Given the description of an element on the screen output the (x, y) to click on. 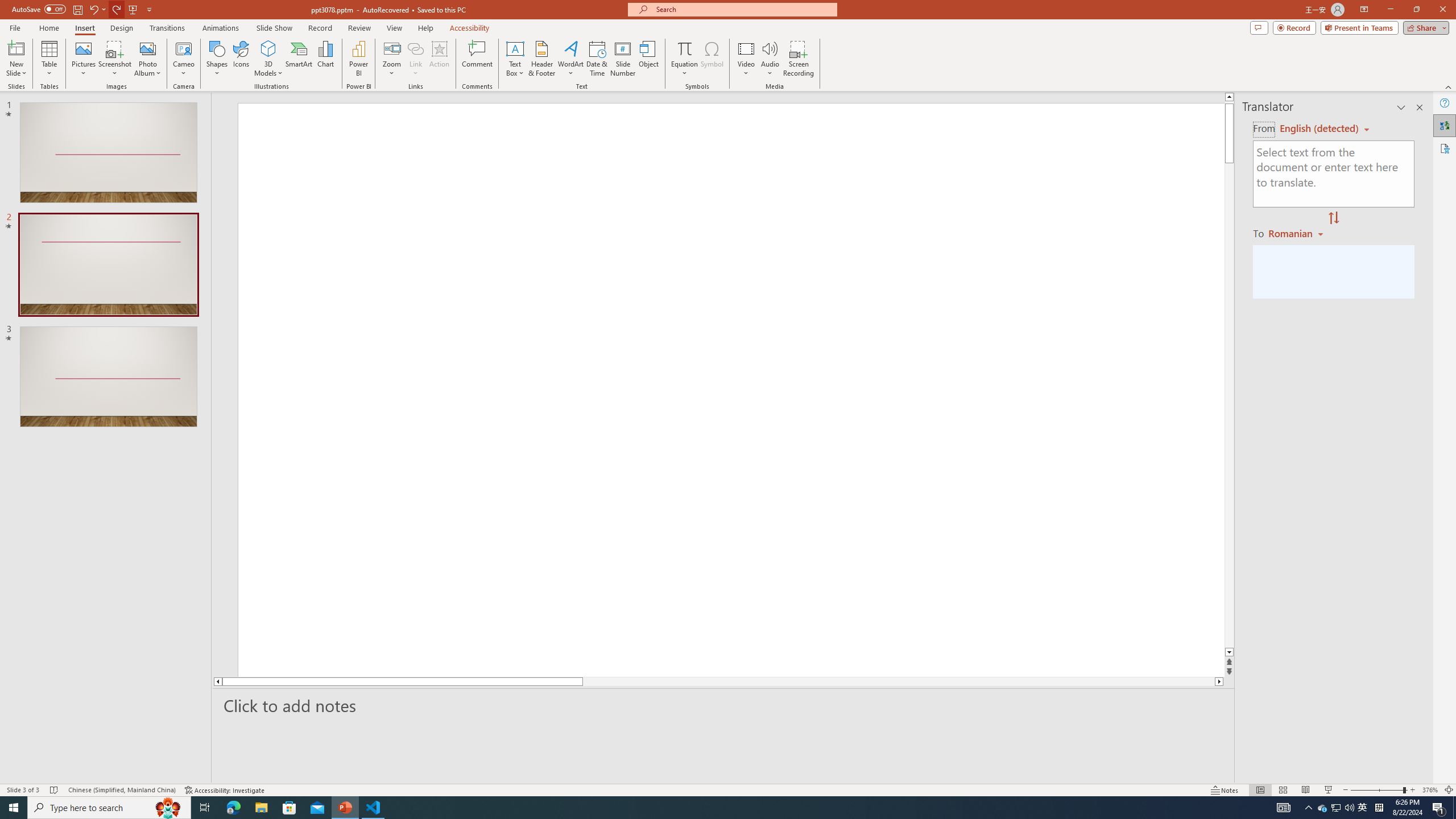
Slide Number (622, 58)
Power BI (358, 58)
Chart... (325, 58)
Action (439, 58)
Romanian (1296, 232)
